Given the description of an element on the screen output the (x, y) to click on. 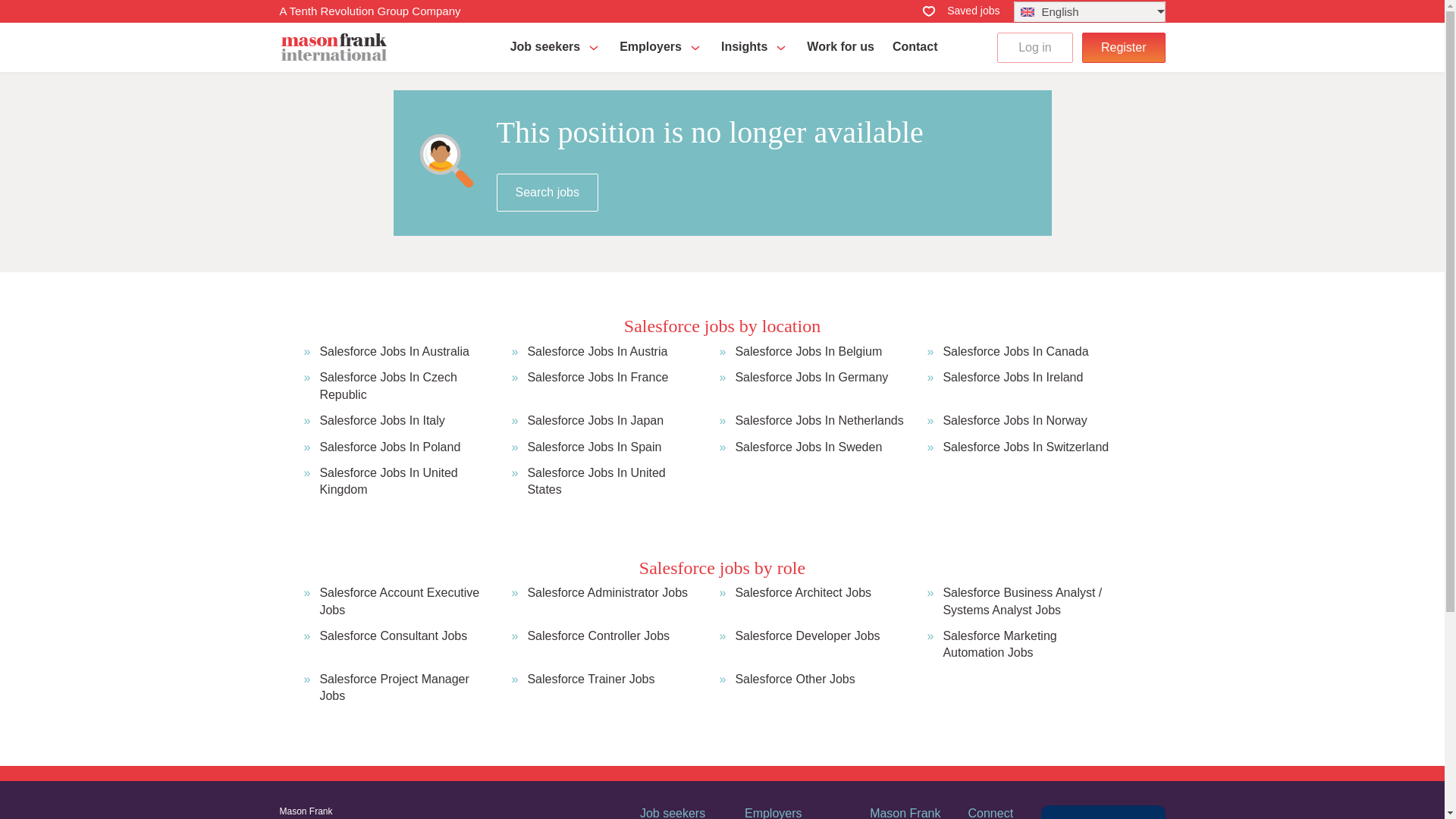
Salesforce Jobs In Poland (389, 446)
English (1088, 11)
Salesforce Jobs In Czech Republic (405, 386)
Salesforce Jobs In Germany (811, 386)
Salesforce Jobs In Japan (595, 420)
Salesforce Jobs In Norway (1014, 420)
Contact (914, 47)
Salesforce Jobs In Ireland (1012, 386)
Salesforce Jobs In Canada (1014, 351)
Search jobs (547, 192)
Insights (754, 47)
Salesforce Jobs In Australia (393, 351)
Employers (661, 47)
Saved jobs (960, 11)
Register (1123, 46)
